Given the description of an element on the screen output the (x, y) to click on. 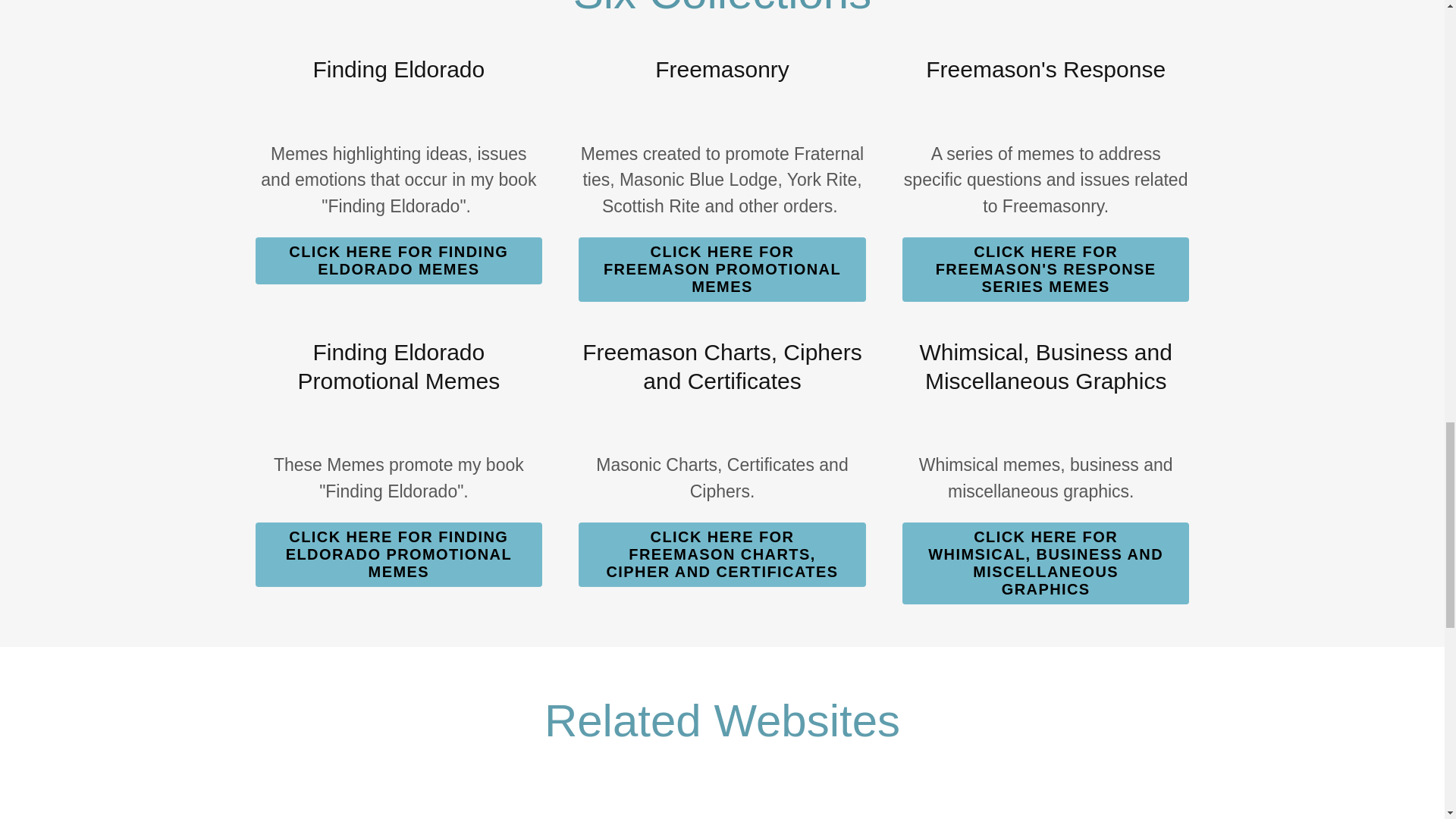
CLICK HERE FOR FREEMASON CHARTS, CIPHER AND CERTIFICATES (722, 554)
CLICK HERE FOR FINDING ELDORADO MEMES (399, 260)
CLICK HERE FOR FREEMASON'S RESPONSE SERIES MEMES (1045, 269)
CLICK HERE FOR FREEMASON PROMOTIONAL MEMES (722, 269)
CLICK HERE FOR FINDING ELDORADO PROMOTIONAL MEMES (399, 554)
